Given the description of an element on the screen output the (x, y) to click on. 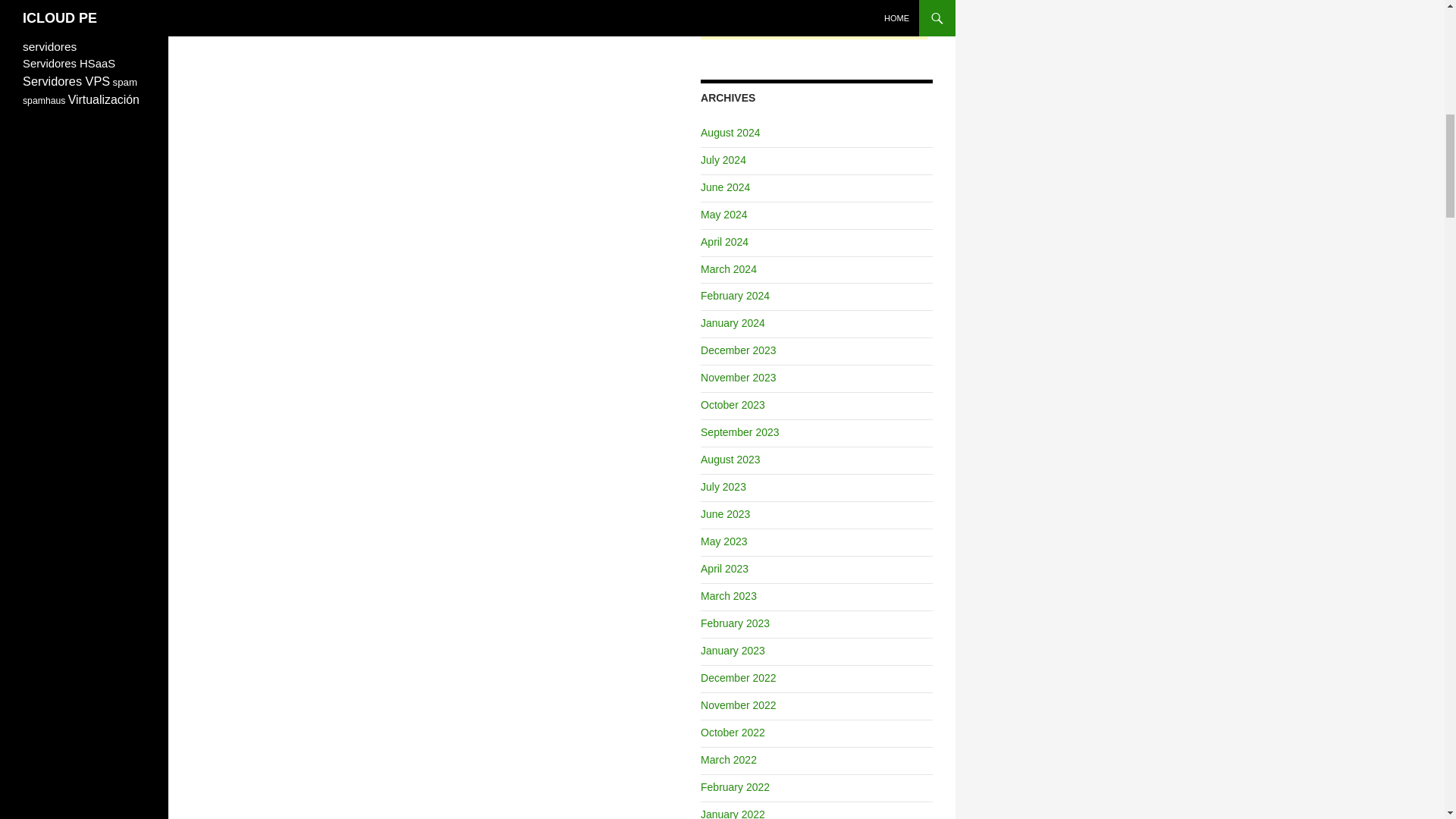
Advertisement (814, 19)
